Given the description of an element on the screen output the (x, y) to click on. 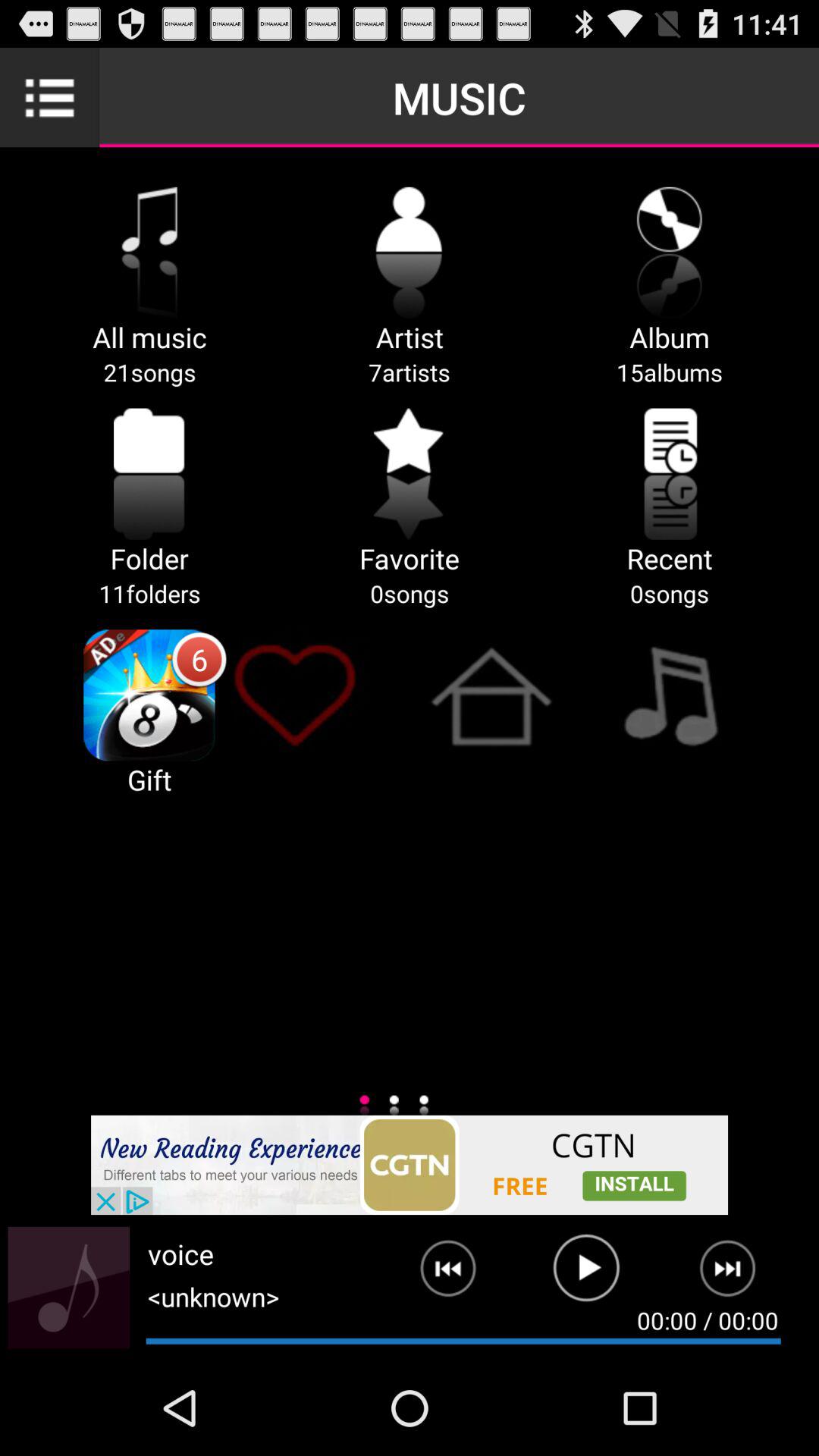
go back (436, 1274)
